Given the description of an element on the screen output the (x, y) to click on. 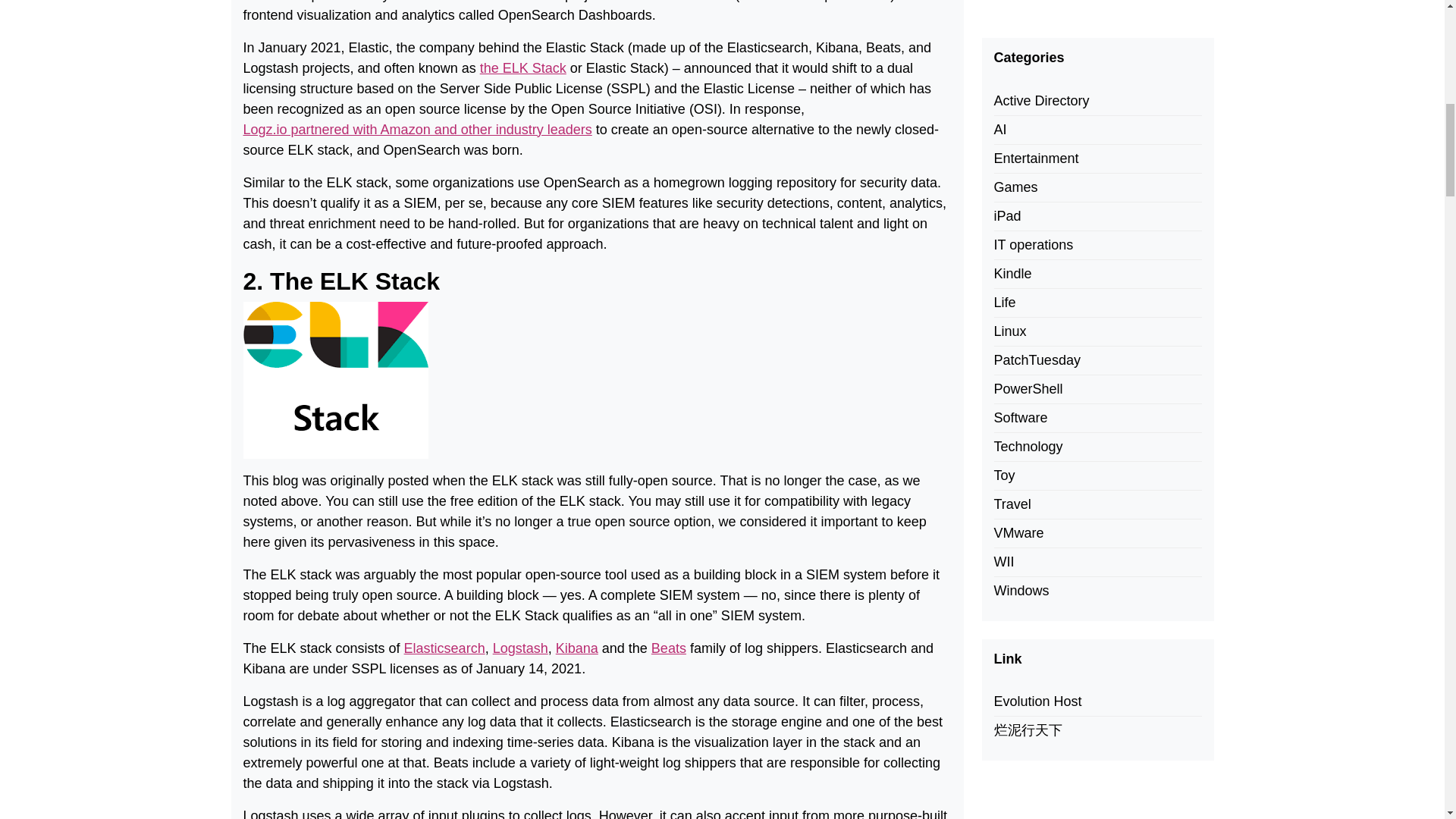
Elasticsearch (444, 648)
Logz.io partnered with Amazon and other industry leaders (417, 129)
the ELK Stack (523, 68)
Logstash (520, 648)
Kibana (577, 648)
Beats (667, 648)
